Given the description of an element on the screen output the (x, y) to click on. 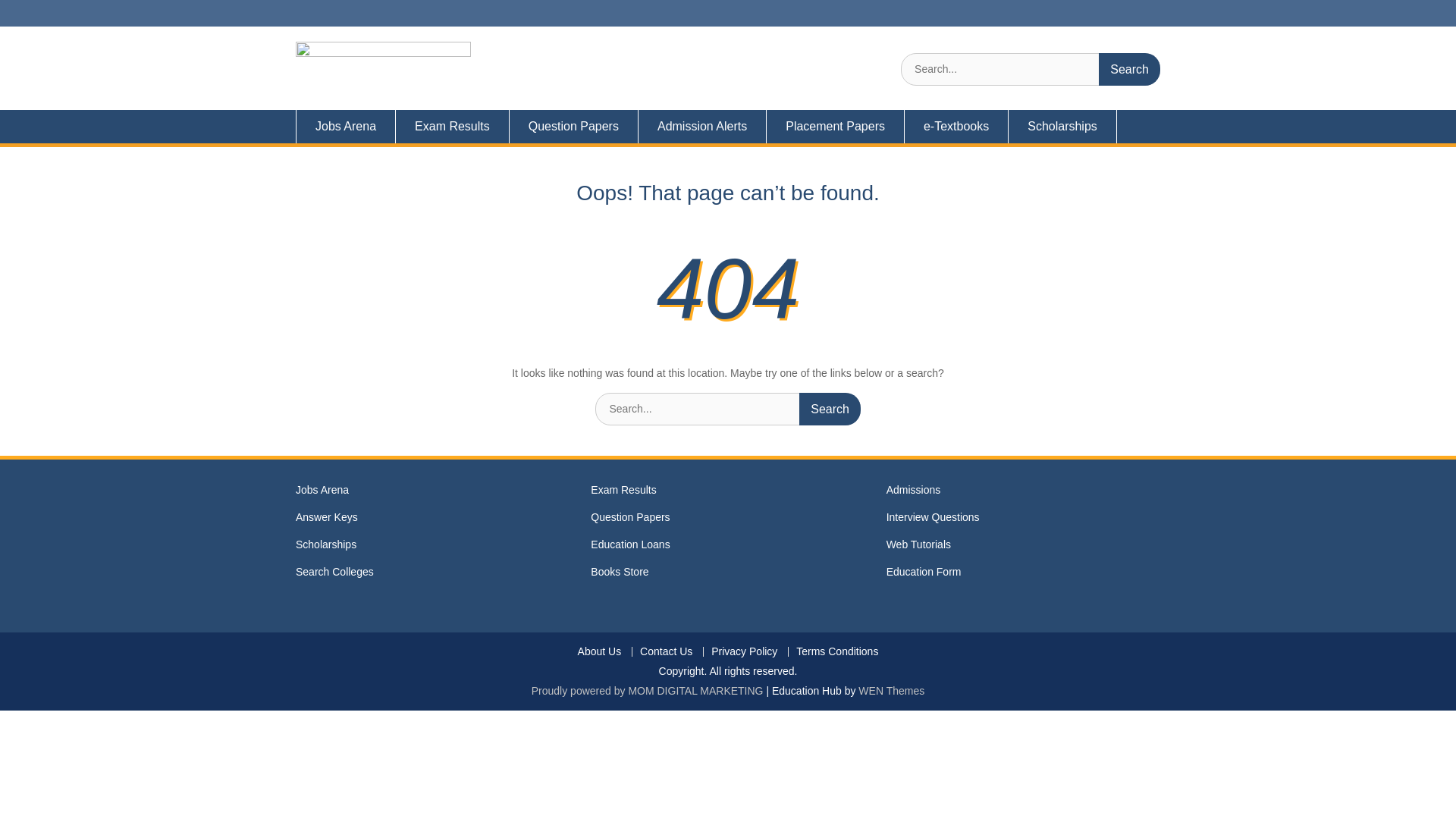
Terms Conditions (836, 651)
Search for: (727, 409)
Placement Papers (835, 126)
Contact Us (665, 651)
Scholarships (1062, 126)
e-Textbooks (956, 126)
WEN Themes (891, 690)
Proudly powered by MOM DIGITAL MARKETING (646, 690)
Question Papers (574, 126)
Admission Alerts (703, 126)
